Given the description of an element on the screen output the (x, y) to click on. 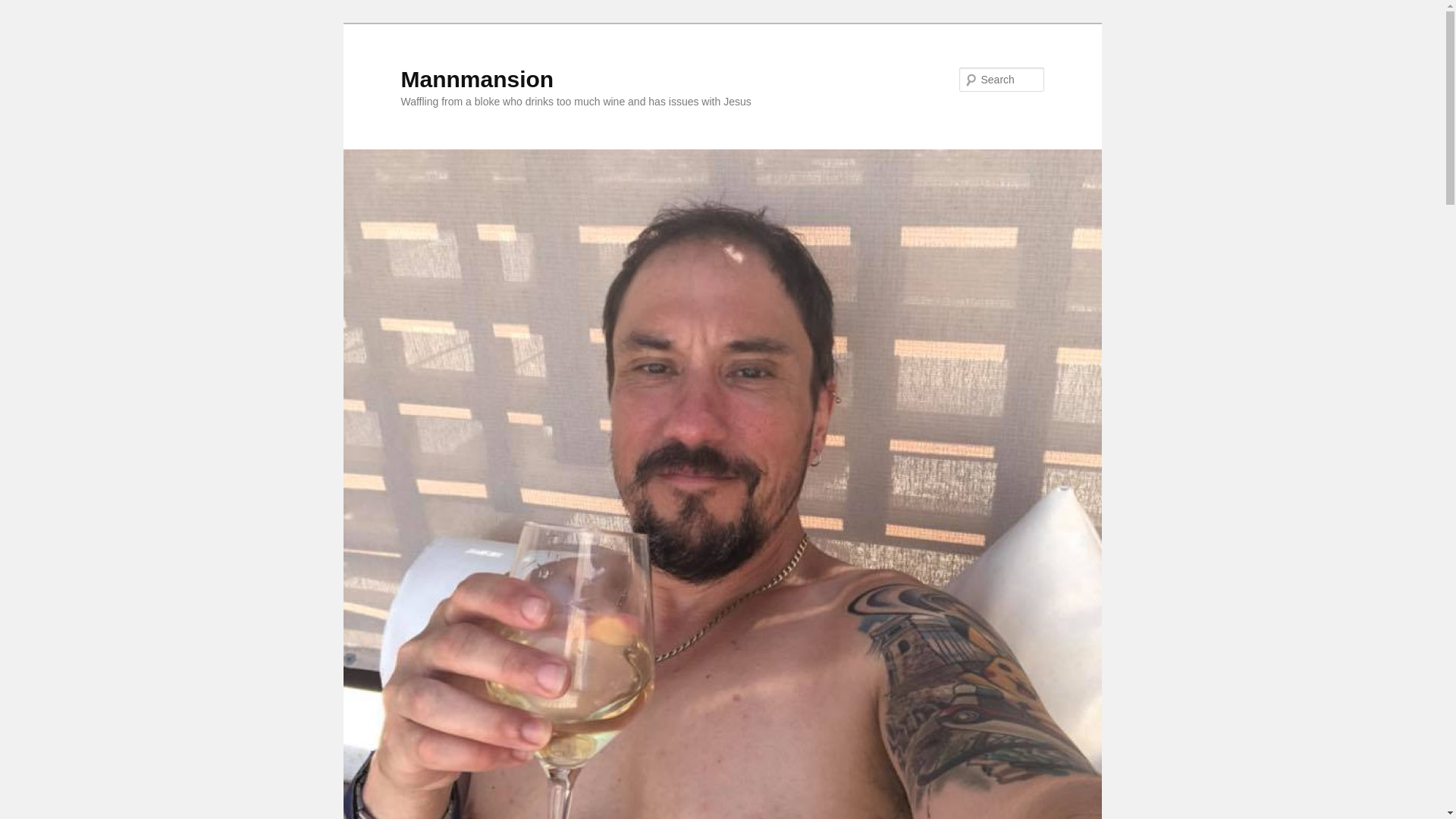
Mannmansion (476, 78)
Search (24, 8)
Search (21, 11)
